Given the description of an element on the screen output the (x, y) to click on. 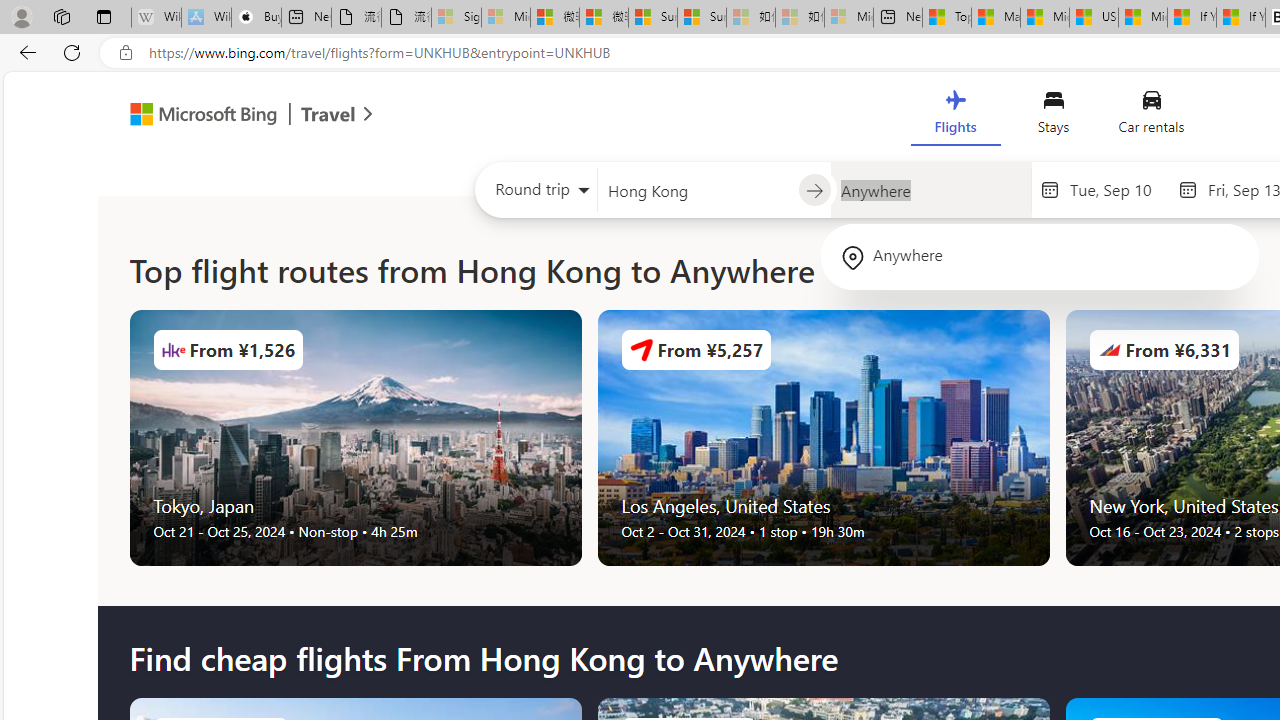
Anywhere (1039, 256)
Class: msft-travel-logo (328, 114)
Stays (1053, 116)
Microsoft account | Account Checkup - Sleeping (848, 17)
Leaving from? (697, 190)
to (814, 191)
